Given the description of an element on the screen output the (x, y) to click on. 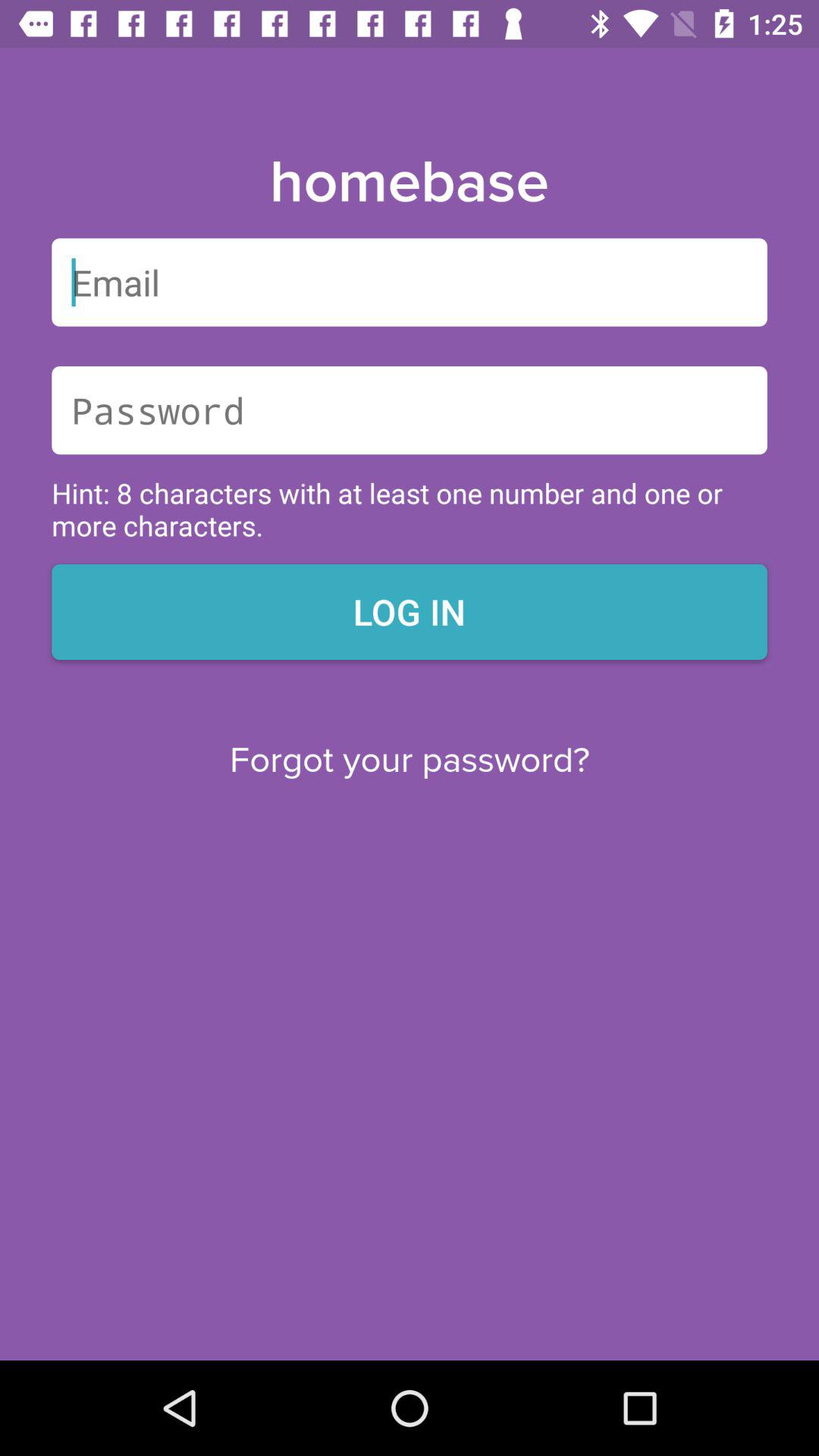
click icon above the hint 8 characters (409, 410)
